Given the description of an element on the screen output the (x, y) to click on. 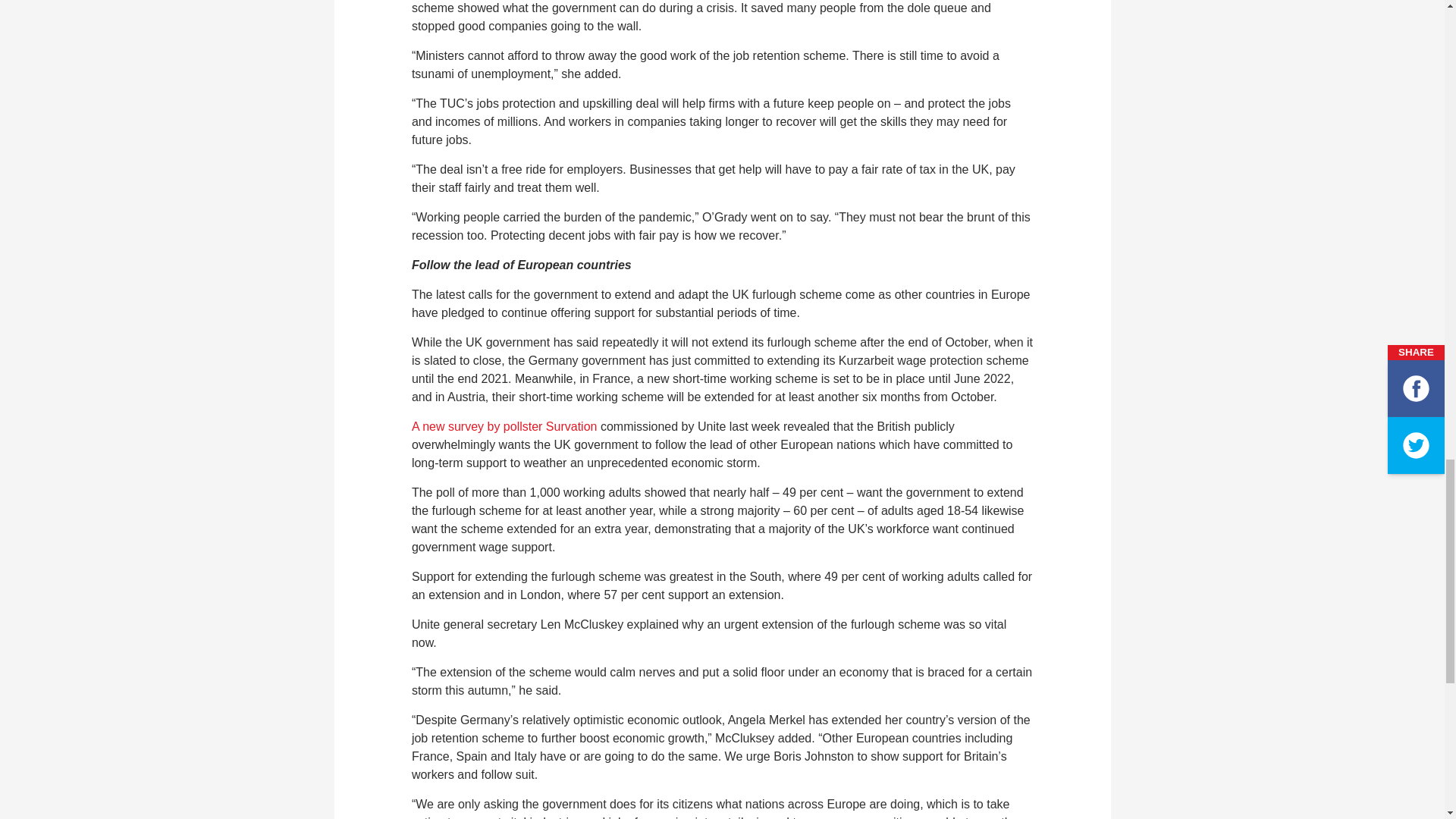
A new survey by pollster Survation (504, 426)
